Given the description of an element on the screen output the (x, y) to click on. 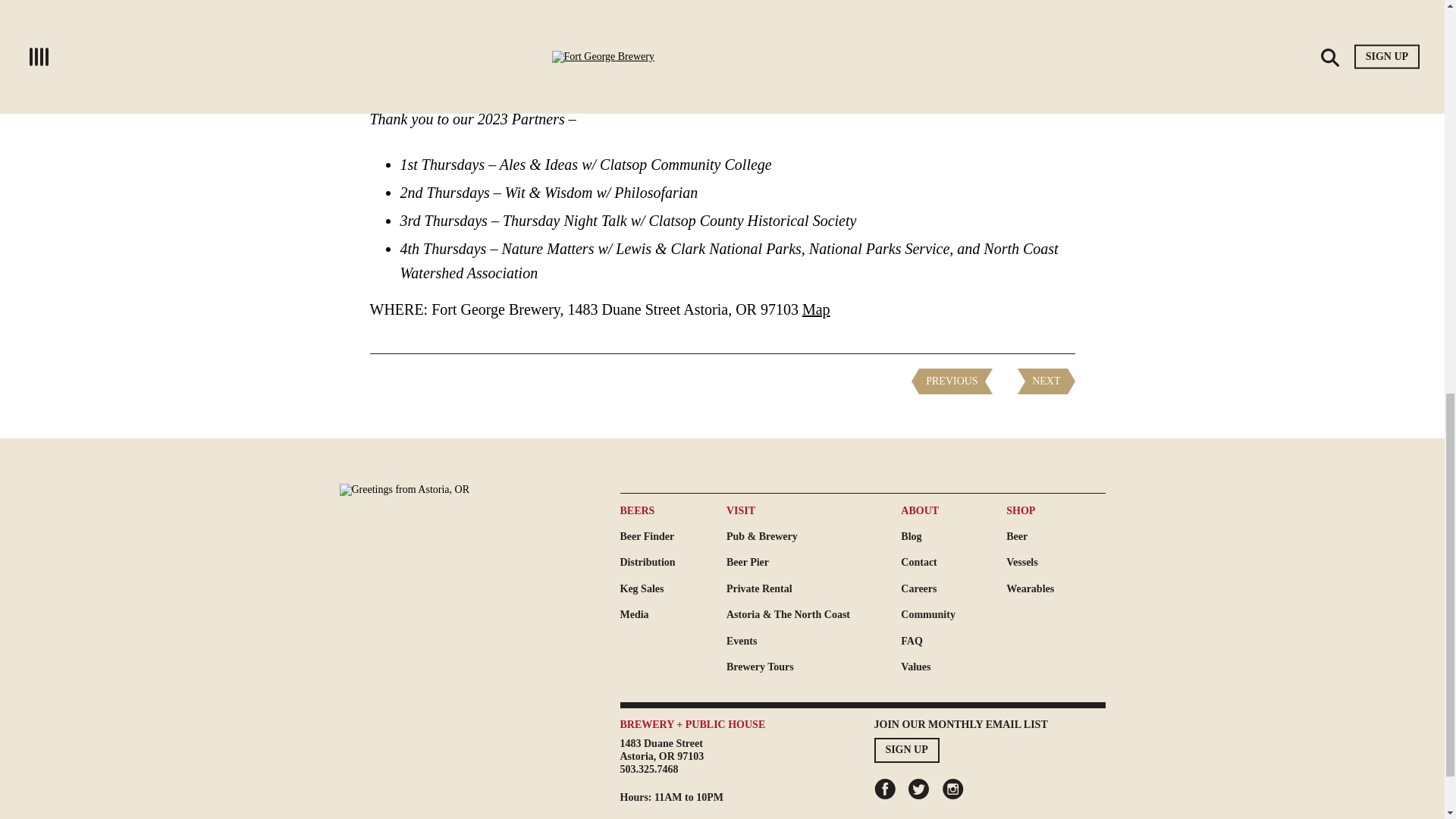
Beer Pier (813, 562)
Distribution (673, 562)
Wearables (1055, 588)
Careers (953, 588)
Vessels (1055, 562)
ABOUT (953, 510)
Map (815, 309)
Values (953, 667)
FAQ (953, 641)
